Given the description of an element on the screen output the (x, y) to click on. 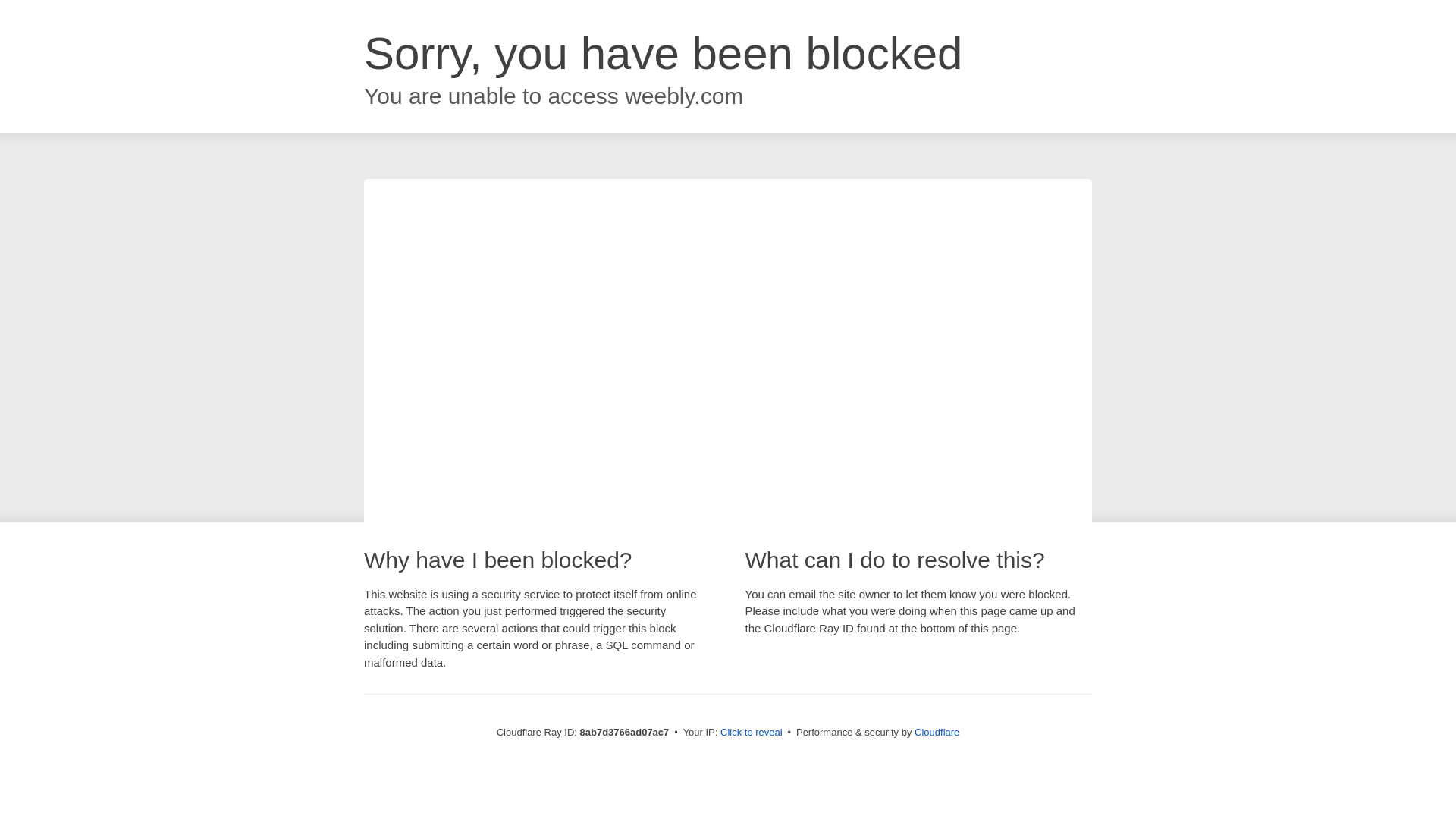
Click to reveal (751, 732)
Cloudflare (936, 731)
